Given the description of an element on the screen output the (x, y) to click on. 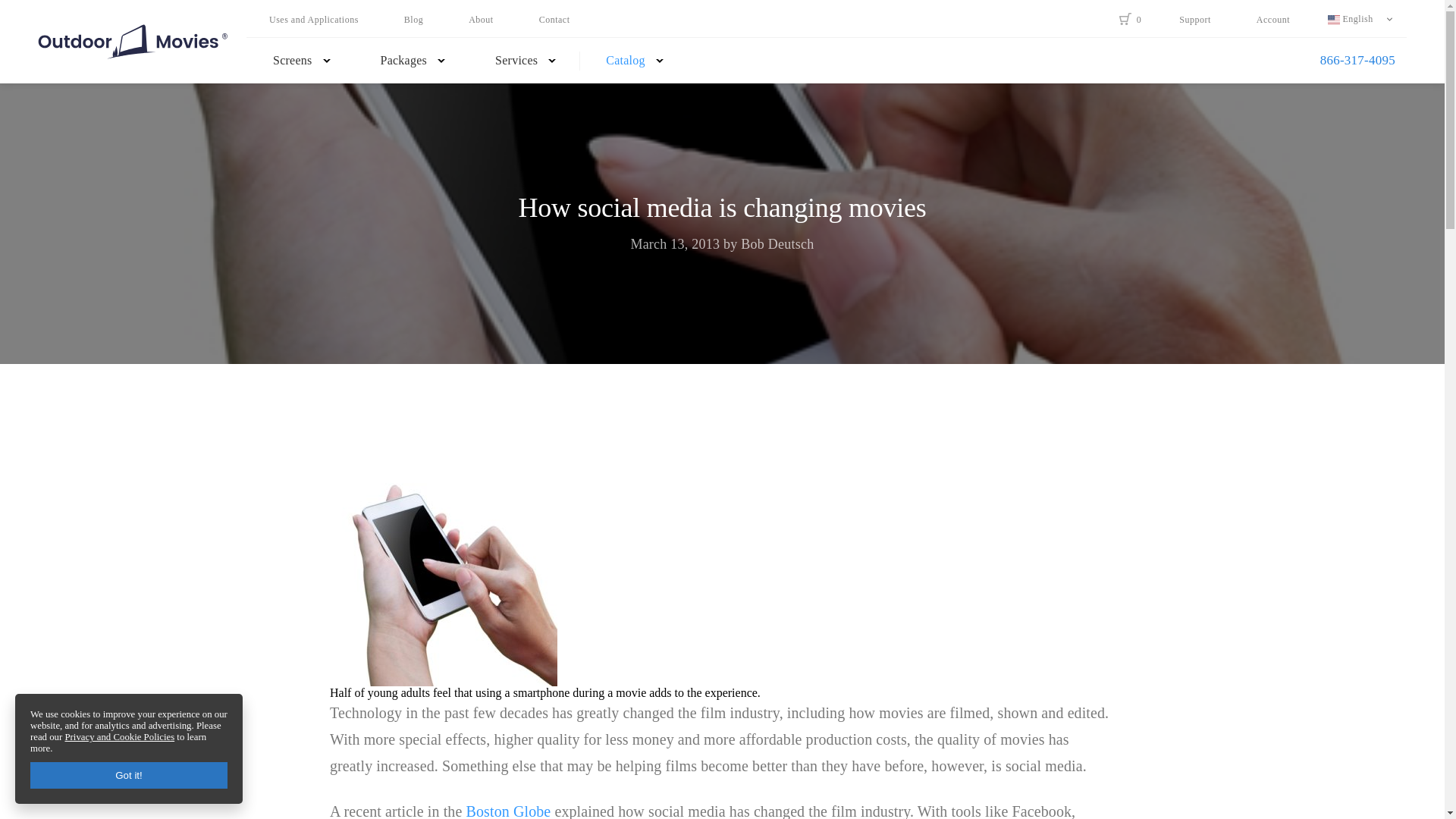
Blog (413, 19)
Contact (554, 19)
New Technology is Changing the Business (443, 572)
Outdoor Movies (132, 41)
About (480, 19)
Uses and Applications (313, 19)
